Given the description of an element on the screen output the (x, y) to click on. 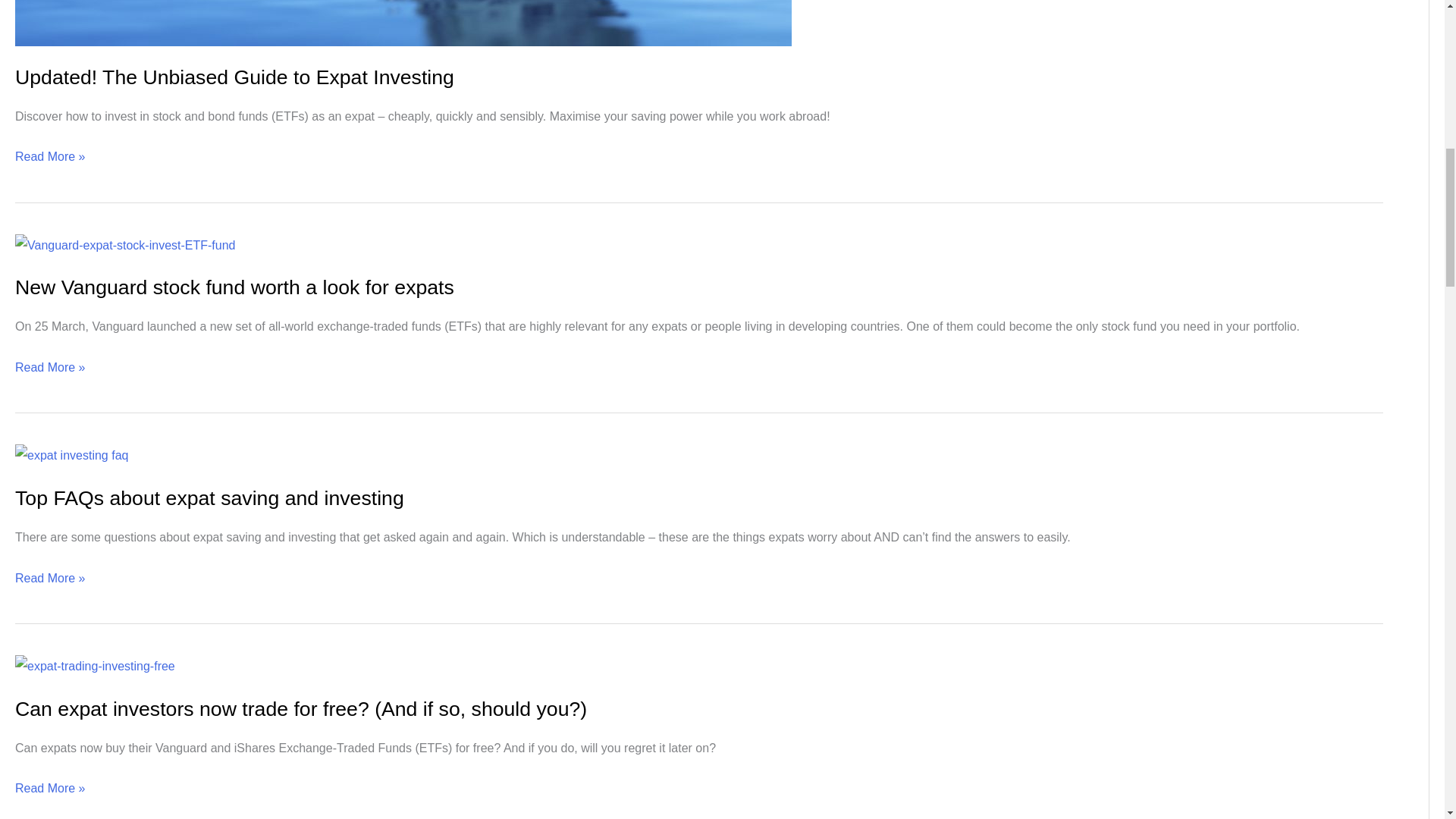
Top FAQs about expat saving and investing (209, 497)
New Vanguard stock fund worth a look for expats (234, 287)
Updated! The Unbiased Guide to Expat Investing (234, 77)
